Given the description of an element on the screen output the (x, y) to click on. 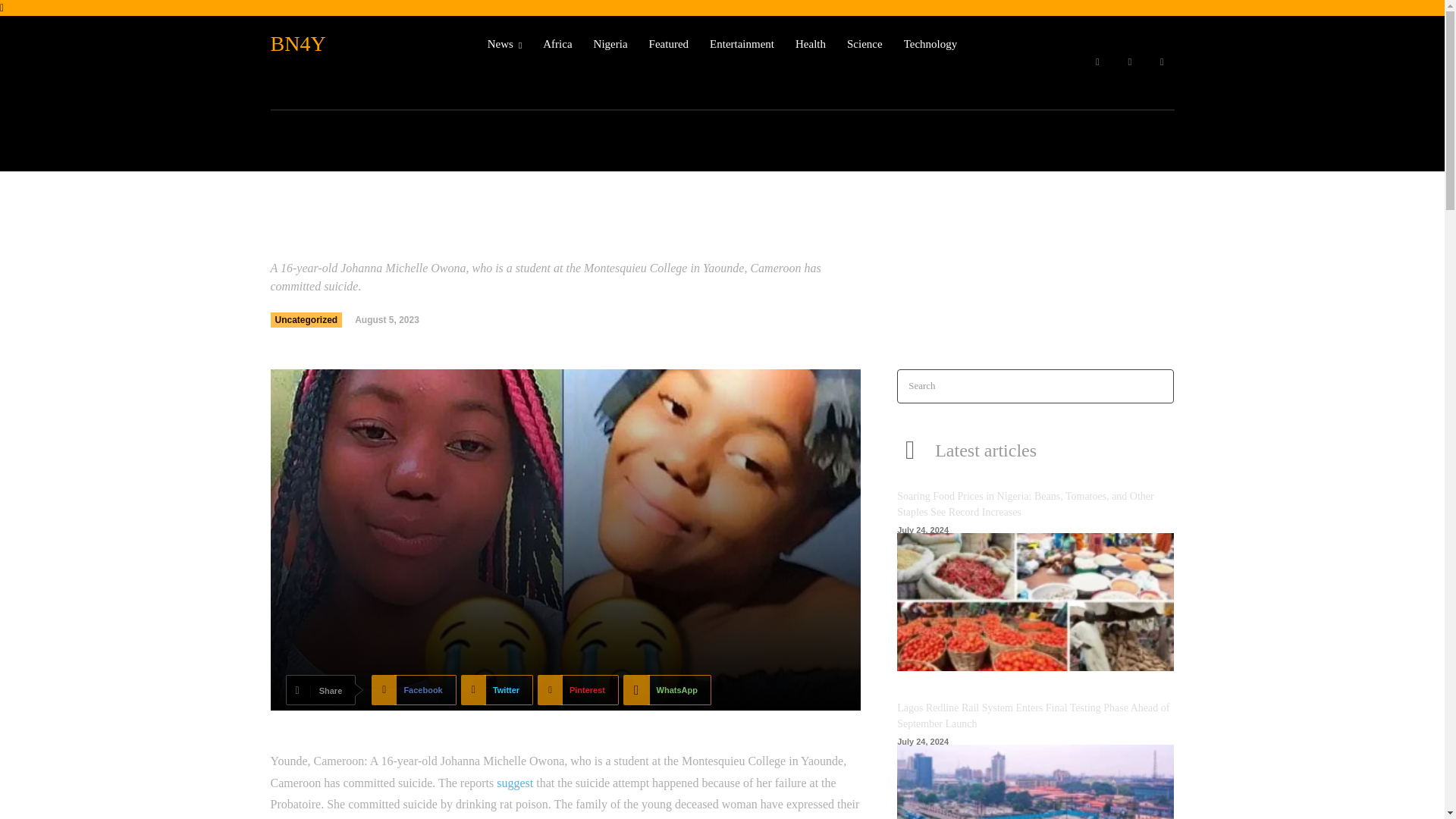
Technology (931, 43)
Facebook (413, 689)
Facebook (413, 689)
Facebook (1096, 62)
BN4Y (345, 44)
Instagram (1130, 62)
Pinterest (577, 689)
Entertainment (742, 43)
Pinterest (577, 689)
Twitter (1162, 62)
Uncategorized (305, 319)
